Given the description of an element on the screen output the (x, y) to click on. 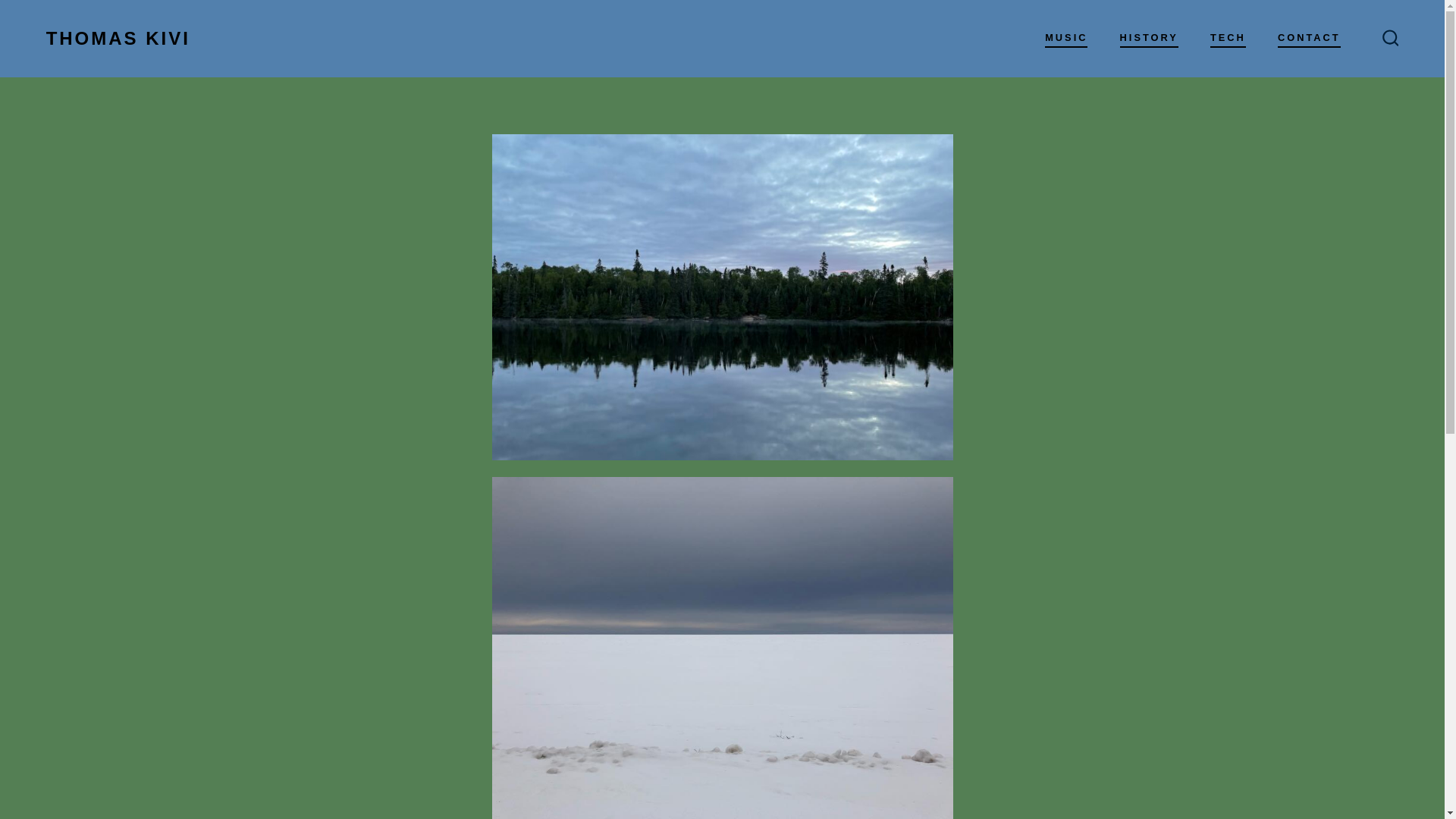
MUSIC (1066, 38)
HISTORY (1148, 38)
CONTACT (1309, 38)
TECH (1227, 38)
SEARCH TOGGLE (1390, 38)
THOMAS KIVI (118, 38)
